Given the description of an element on the screen output the (x, y) to click on. 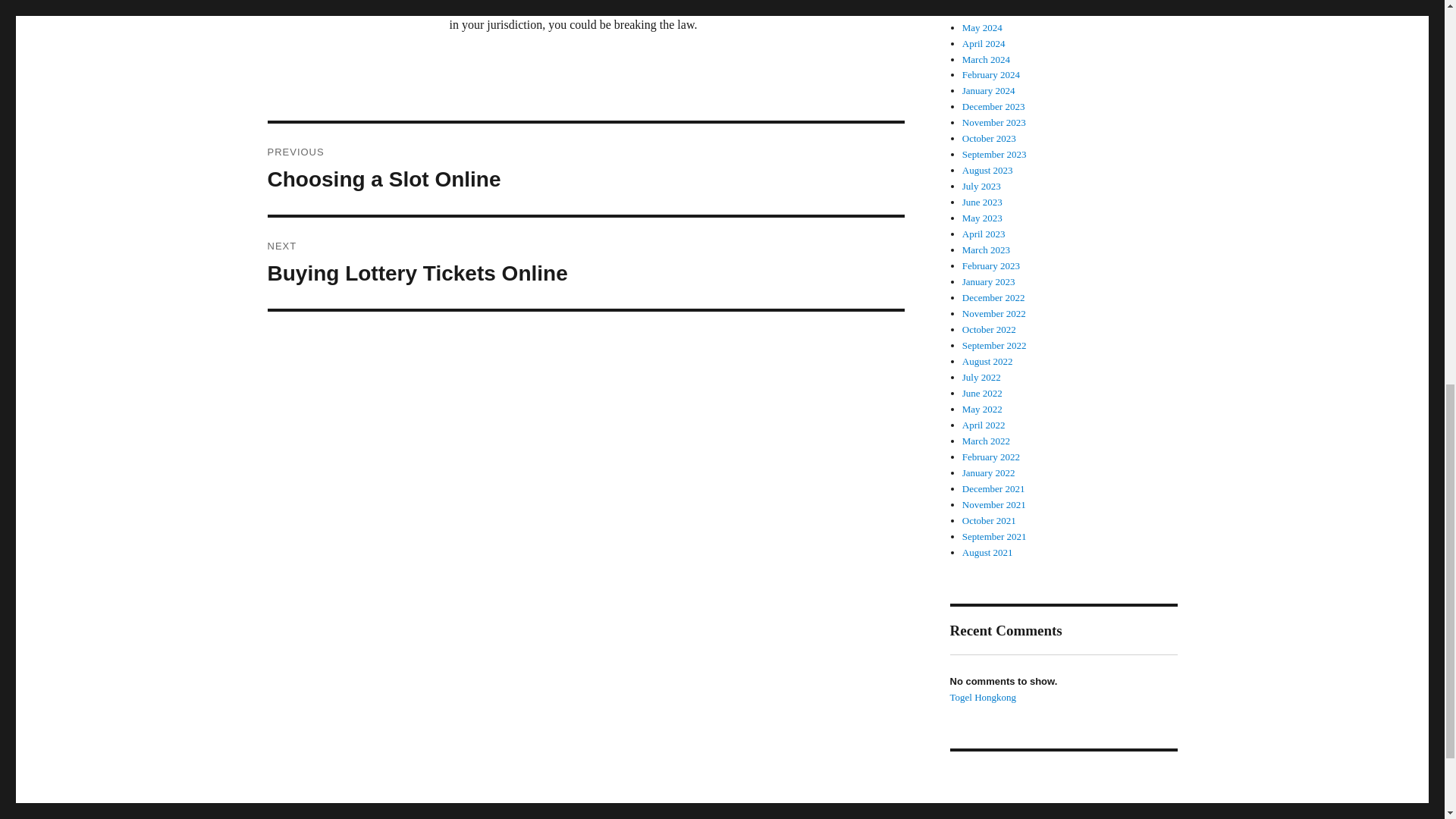
July 2023 (981, 185)
October 2023 (989, 138)
February 2023 (991, 265)
April 2023 (984, 233)
April 2024 (984, 43)
December 2023 (993, 106)
May 2024 (982, 27)
July 2024 (981, 0)
May 2023 (585, 168)
